Given the description of an element on the screen output the (x, y) to click on. 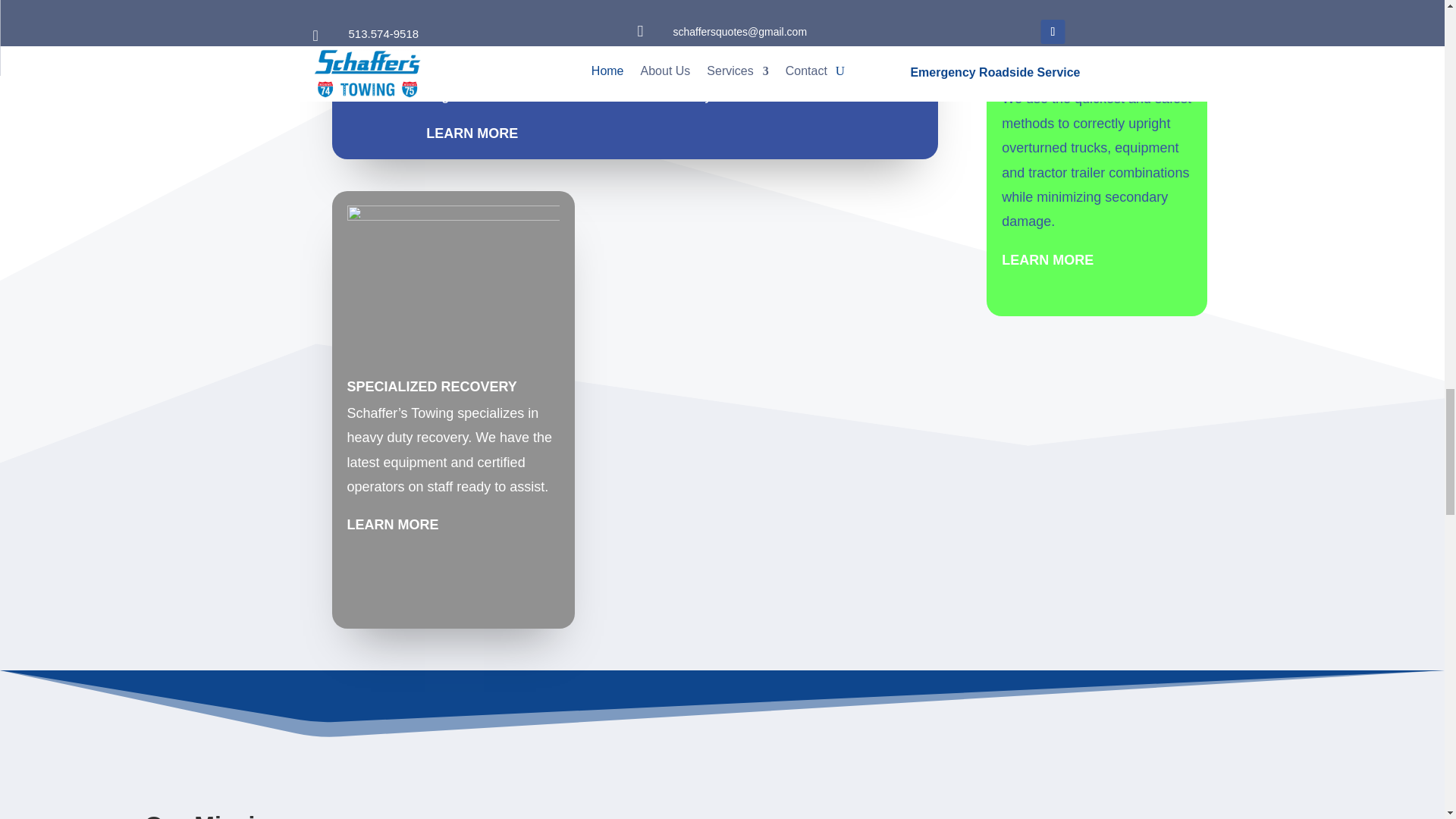
LEARN MORE (1047, 259)
LEARN MORE (472, 133)
LEARN MORE (393, 524)
